Given the description of an element on the screen output the (x, y) to click on. 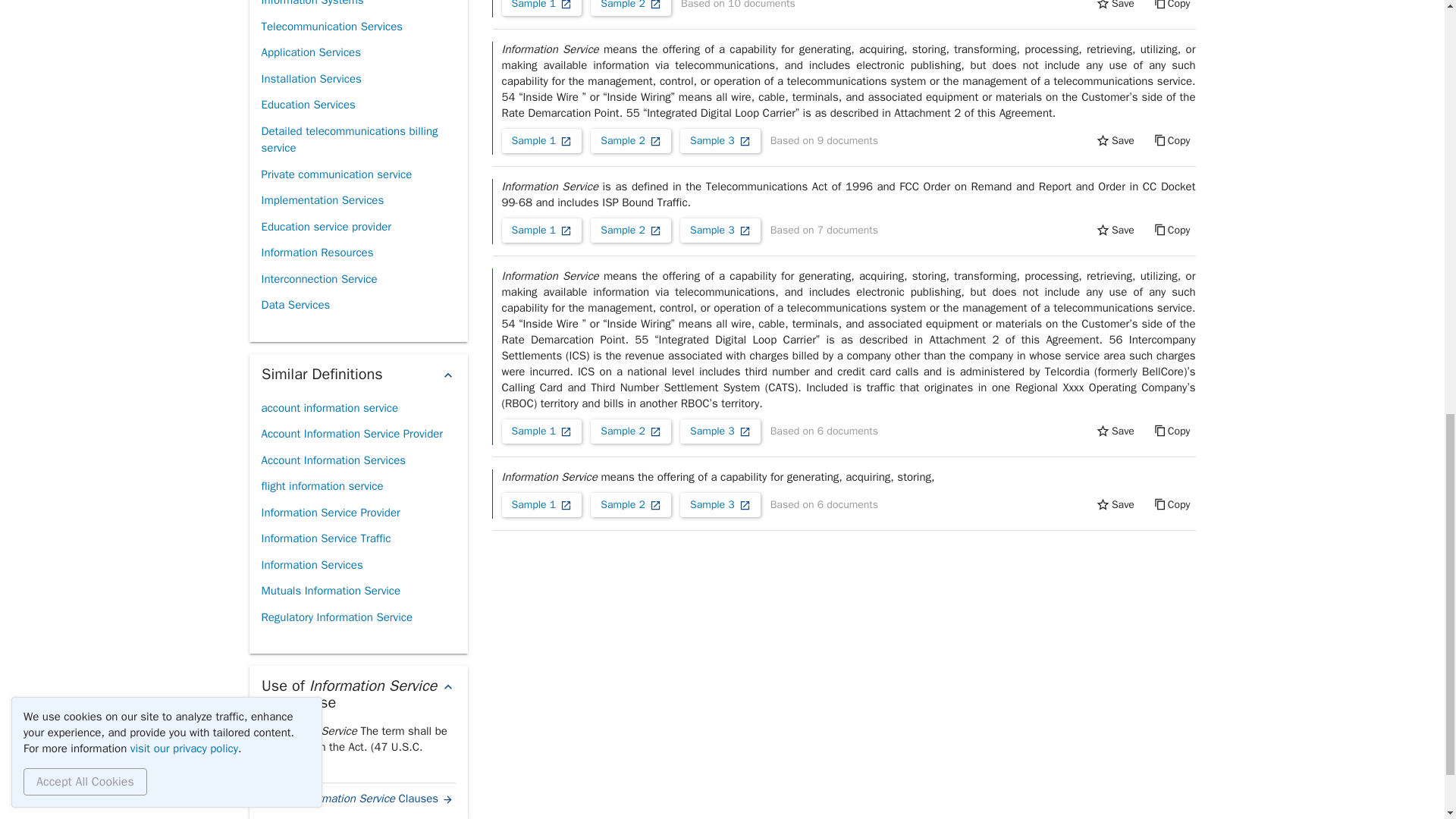
Application Services (309, 52)
Installation Services (310, 79)
Telecommunication Services (331, 26)
Information Systems (311, 6)
